Given the description of an element on the screen output the (x, y) to click on. 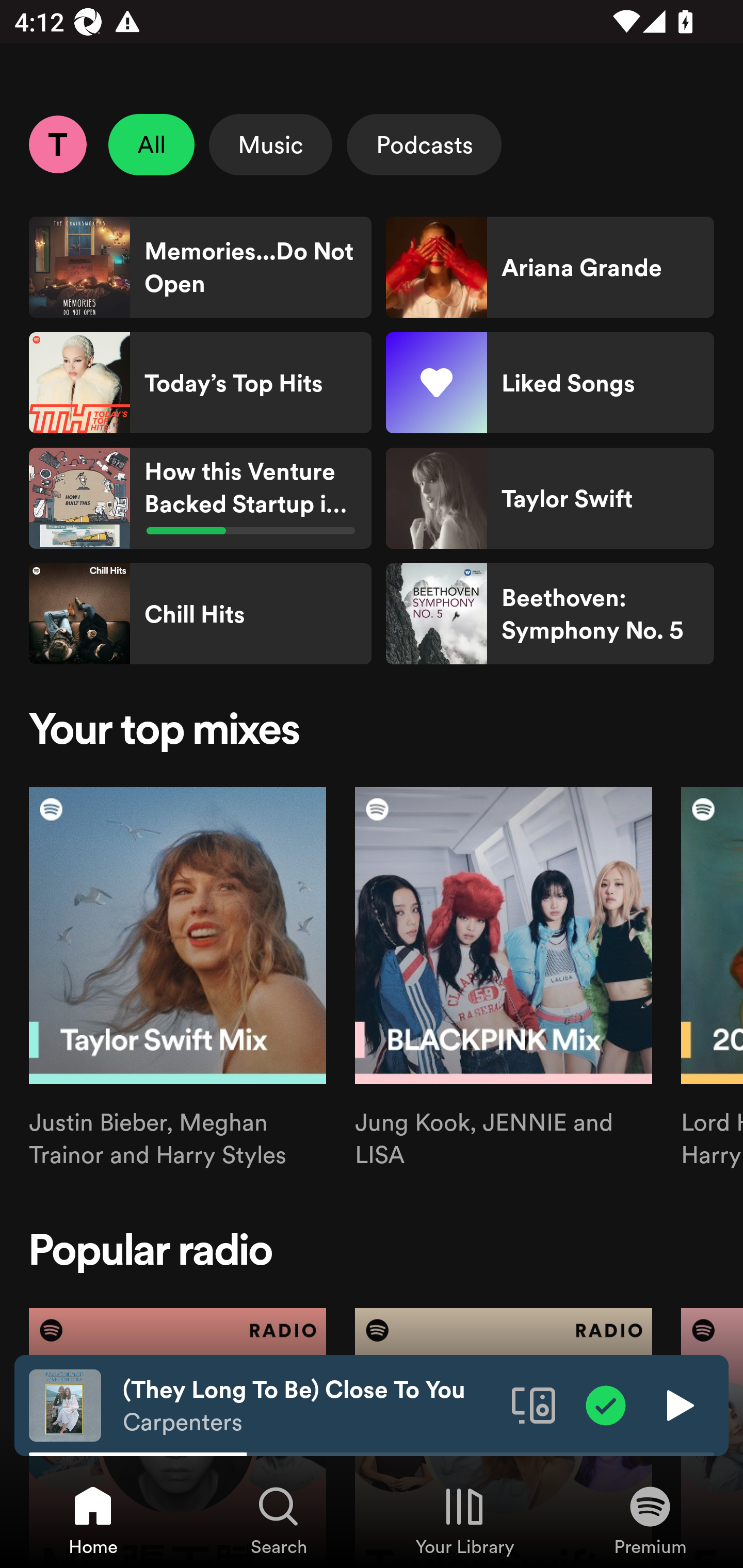
Profile (57, 144)
All Unselect All (151, 144)
Music Select Music (270, 144)
Podcasts Select Podcasts (423, 144)
Ariana Grande Shortcut Ariana Grande (549, 267)
Today’s Top Hits Shortcut Today’s Top Hits (199, 382)
Liked Songs Shortcut Liked Songs (549, 382)
Taylor Swift Shortcut Taylor Swift (549, 498)
Chill Hits Shortcut Chill Hits (199, 613)
(They Long To Be) Close To You Carpenters (309, 1405)
The cover art of the currently playing track (64, 1404)
Connect to a device. Opens the devices menu (533, 1404)
Item added (605, 1404)
Play (677, 1404)
Home, Tab 1 of 4 Home Home (92, 1519)
Search, Tab 2 of 4 Search Search (278, 1519)
Your Library, Tab 3 of 4 Your Library Your Library (464, 1519)
Premium, Tab 4 of 4 Premium Premium (650, 1519)
